Given the description of an element on the screen output the (x, y) to click on. 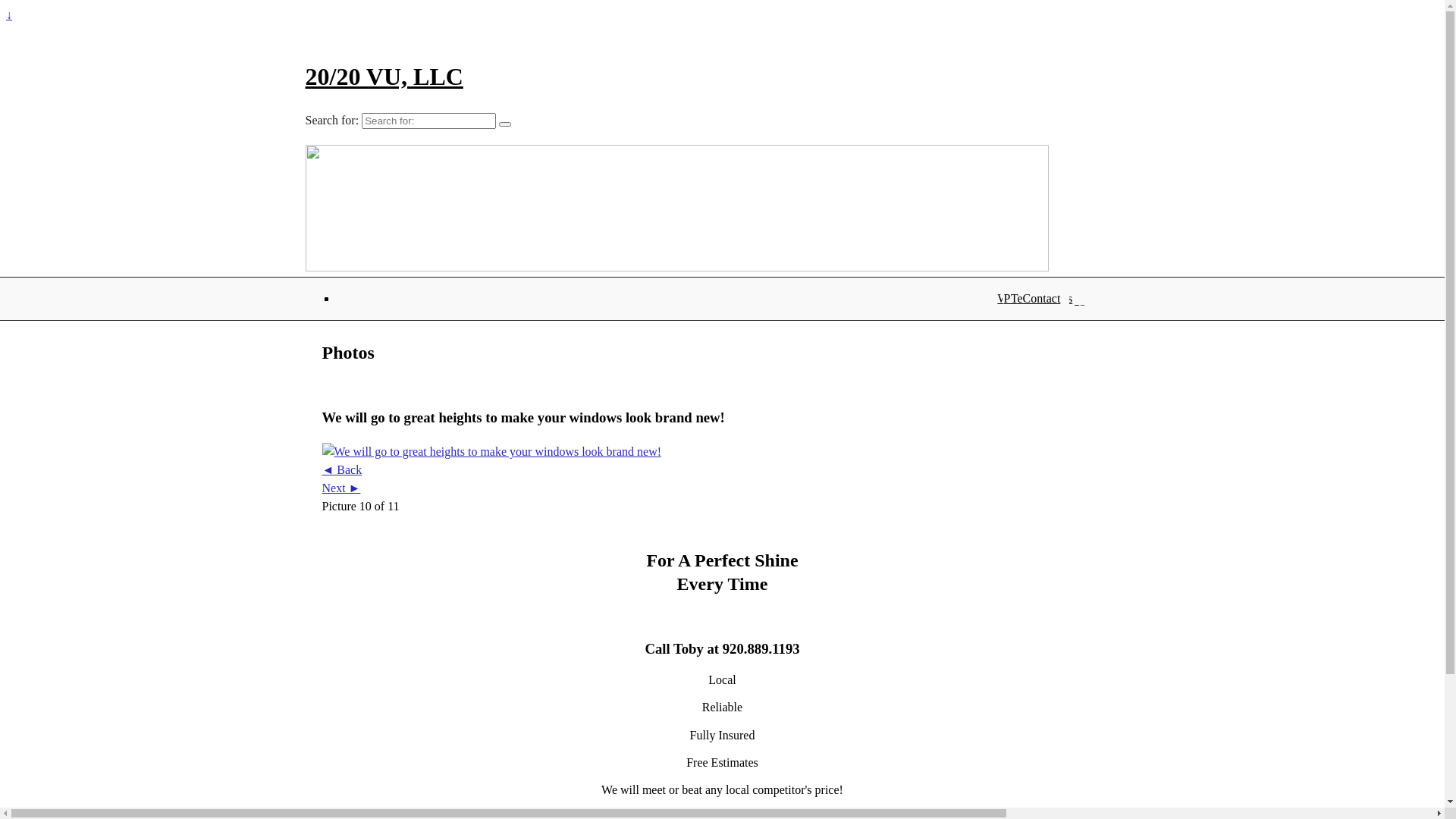
Home Element type: text (1045, 297)
20/20 VU, LLC Element type: text (383, 76)
Testimonials Element type: text (1046, 297)
Photos Element type: text (1045, 297)
Contact Element type: text (1046, 297)
General Element type: text (1046, 297)
Gutter Cleaning Element type: text (1045, 297)
Power Washing Element type: text (1045, 297)
Window Cleaning Element type: text (1045, 297)
  Element type: hover (491, 451)
